Given the description of an element on the screen output the (x, y) to click on. 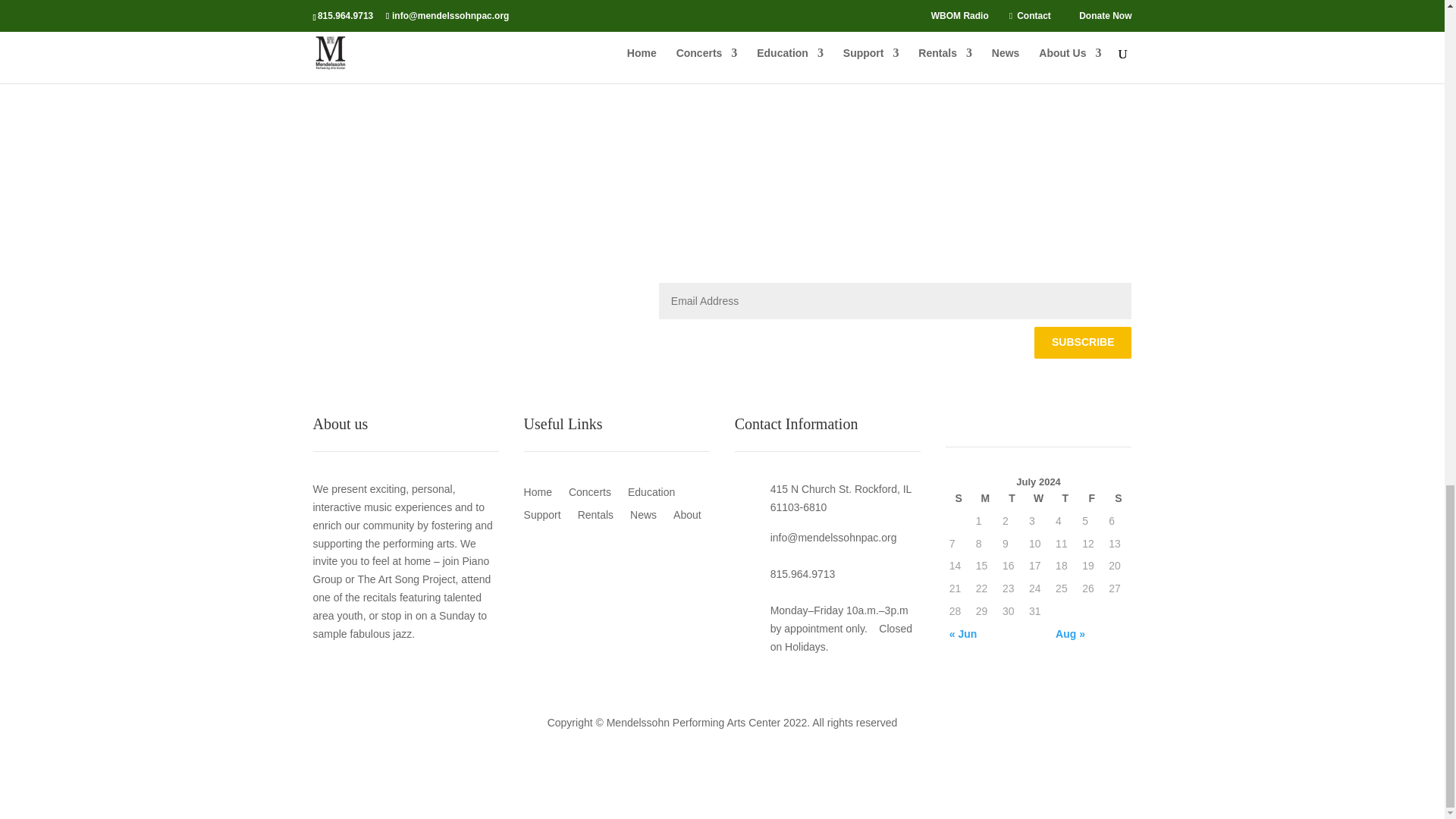
Friday (1091, 498)
Follow on Facebook (324, 294)
Monday (985, 498)
Wednesday (1038, 498)
Tuesday (1011, 498)
Follow on LinkedIn (354, 294)
SUBSCRIBE (1082, 342)
Saturday (1118, 498)
Thursday (1064, 498)
Previous month (985, 634)
Next month (1090, 634)
Follow on Instagram (384, 294)
Sunday (958, 498)
